Given the description of an element on the screen output the (x, y) to click on. 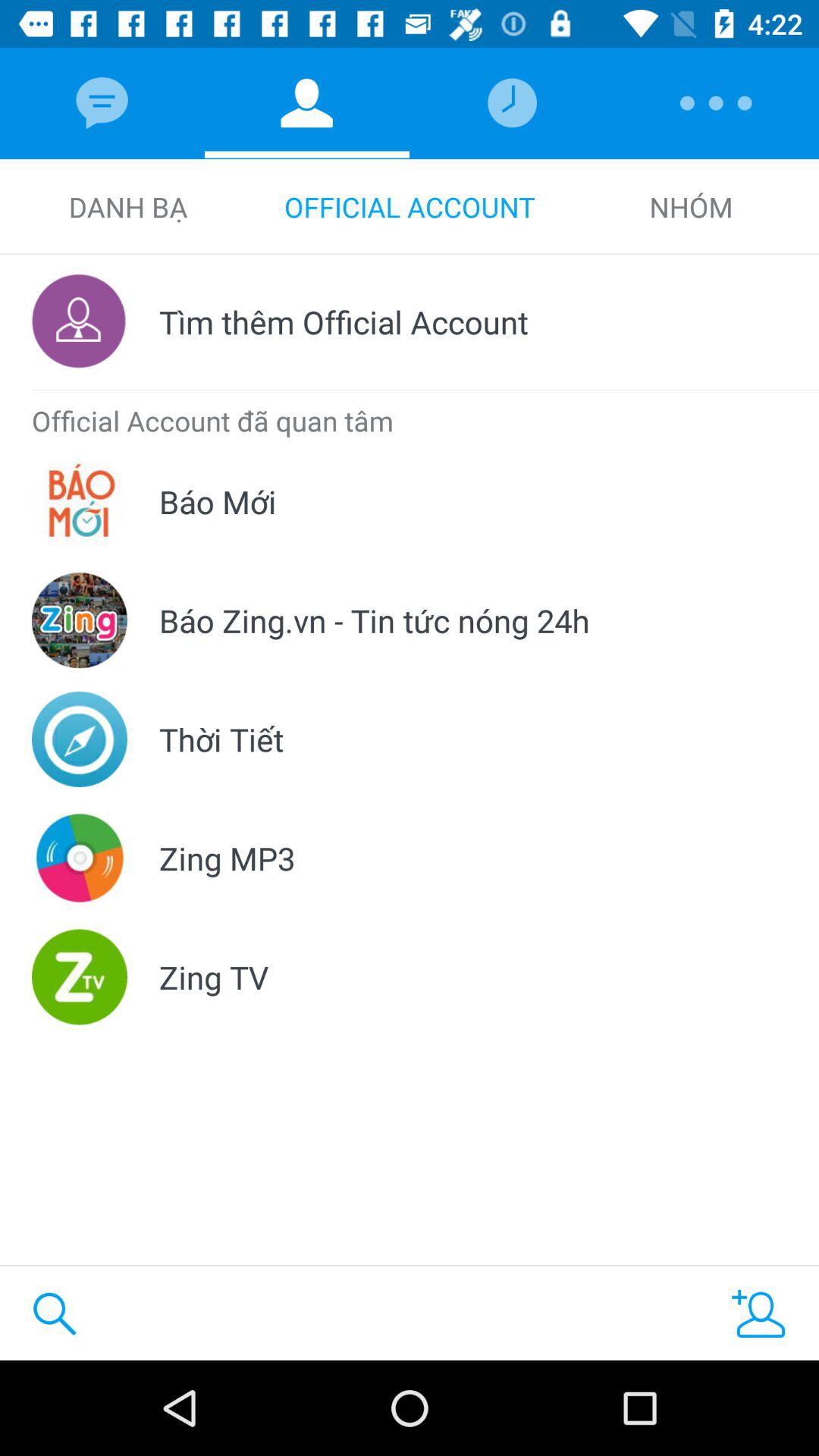
turn on item above the zing mp3 icon (221, 738)
